Given the description of an element on the screen output the (x, y) to click on. 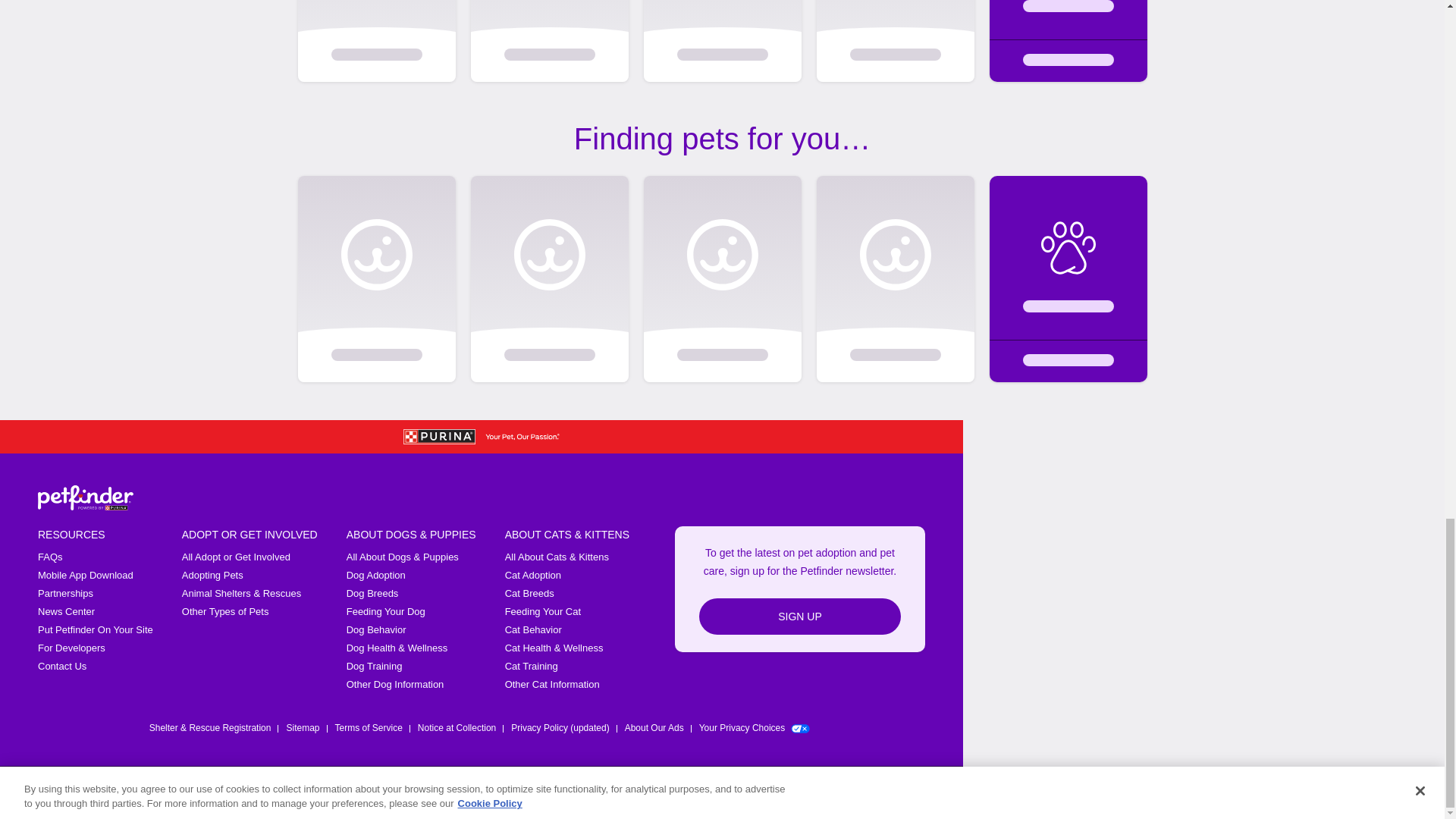
Twitter (798, 791)
Petfinder Logo (85, 497)
Facebook (759, 791)
Instagram (837, 791)
